Given the description of an element on the screen output the (x, y) to click on. 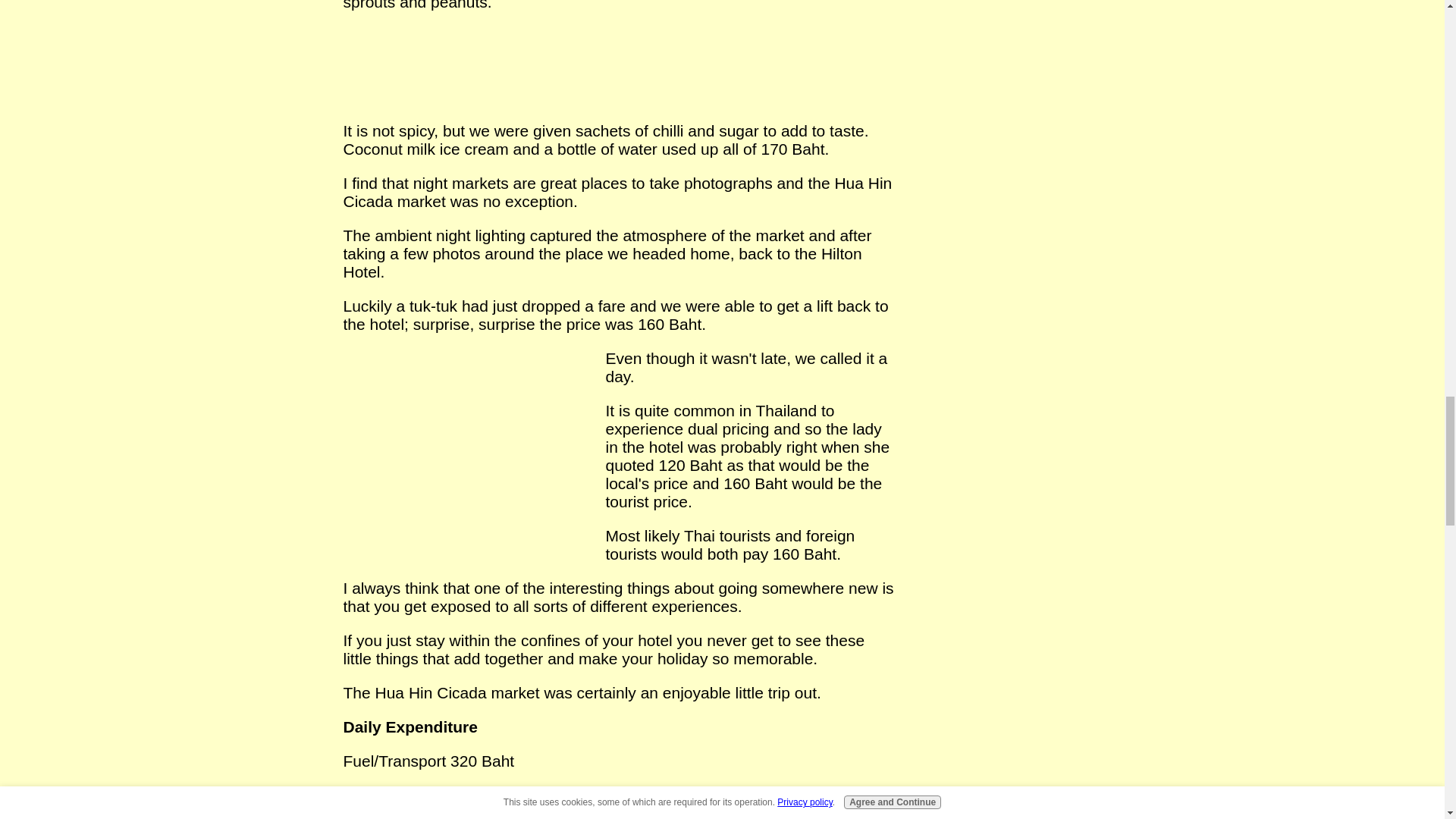
Hua Hin tuk tuk to the Cicada night market  (468, 439)
